Given the description of an element on the screen output the (x, y) to click on. 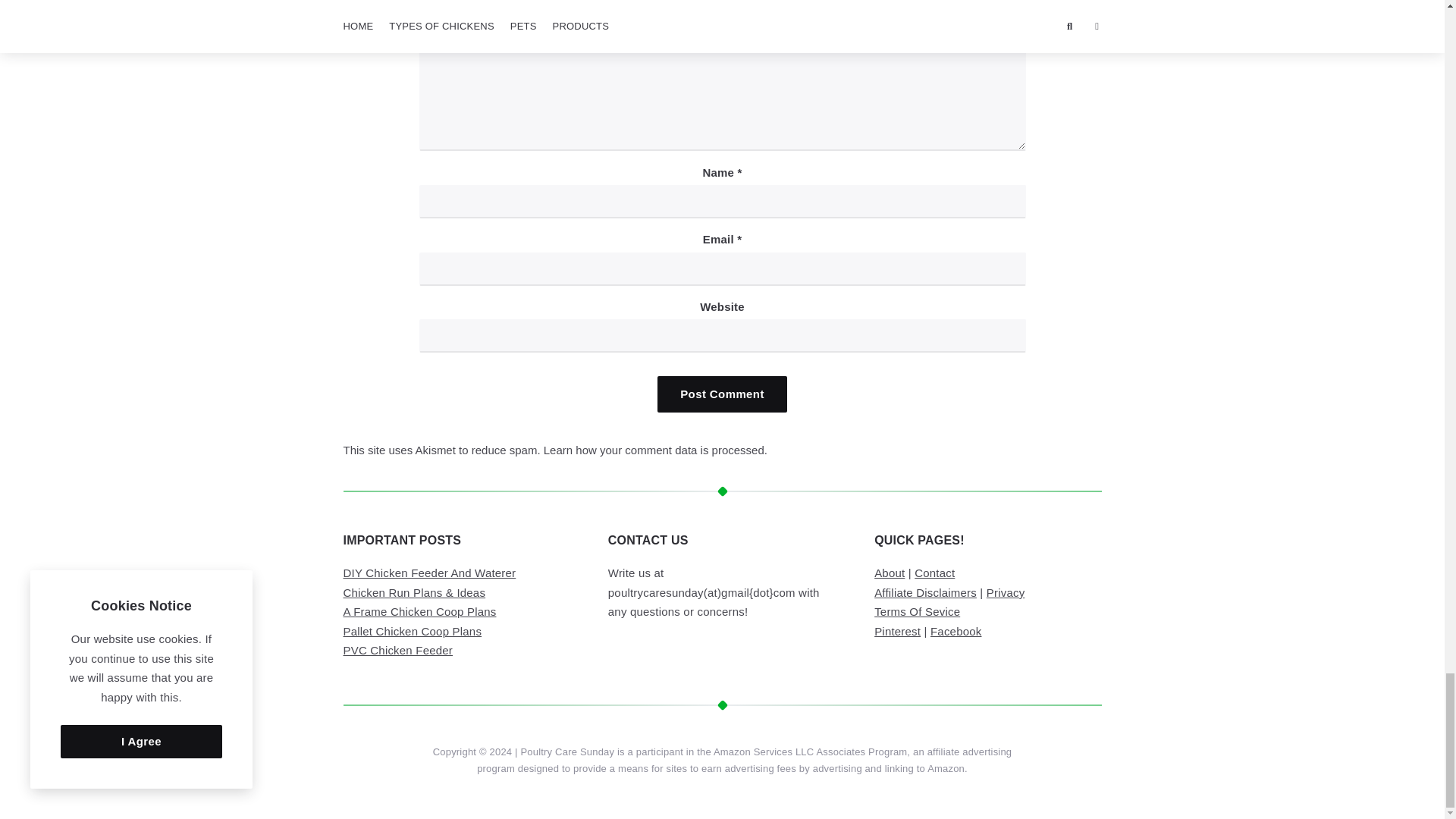
Post comment (722, 393)
